Given the description of an element on the screen output the (x, y) to click on. 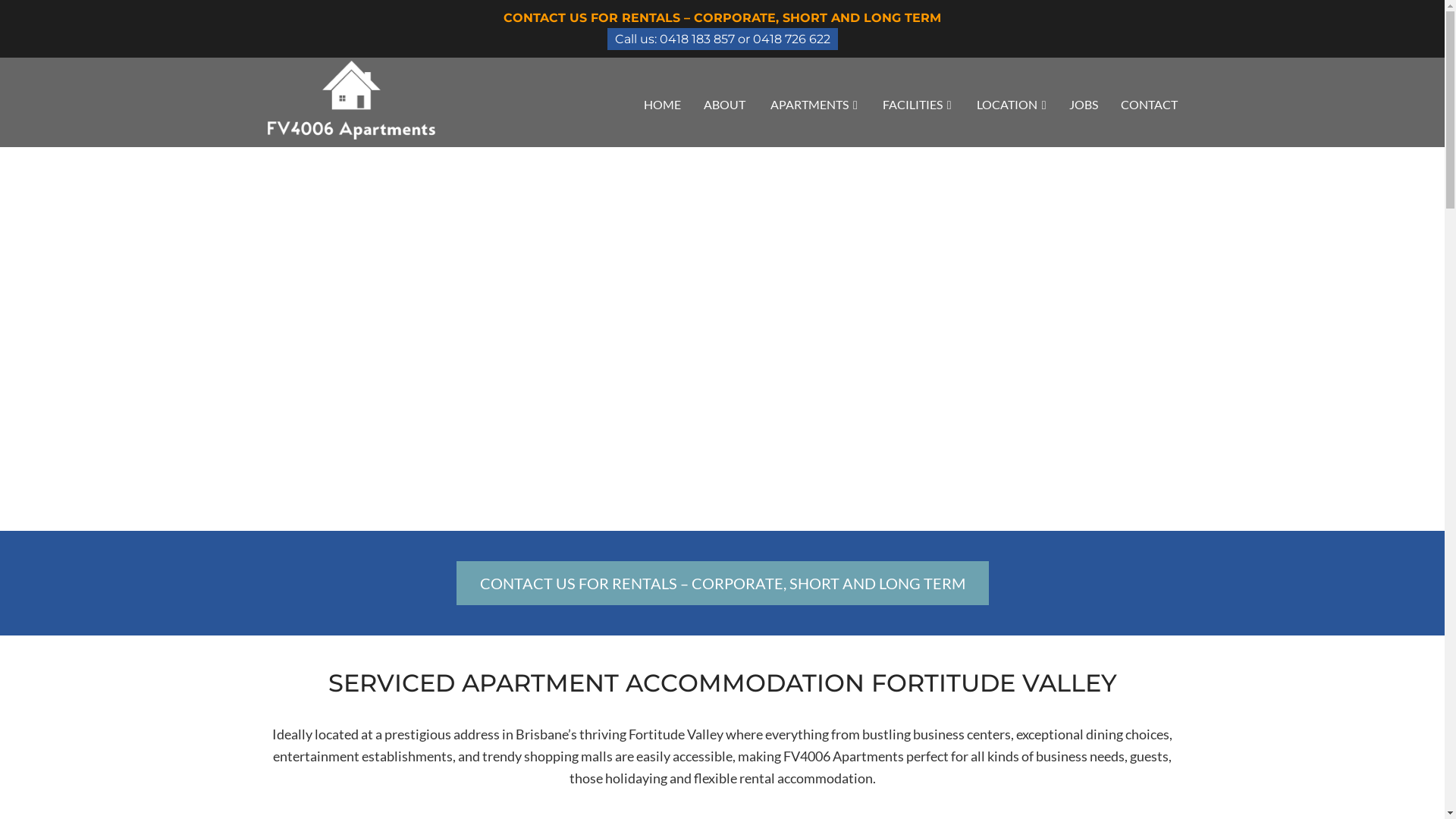
CONTACT Element type: text (1148, 103)
or Element type: text (743, 38)
0418 726 622 Element type: text (790, 38)
JOBS Element type: text (1082, 103)
ABOUT Element type: text (724, 103)
0418 183 857 Element type: text (696, 38)
HOME Element type: text (662, 103)
